Given the description of an element on the screen output the (x, y) to click on. 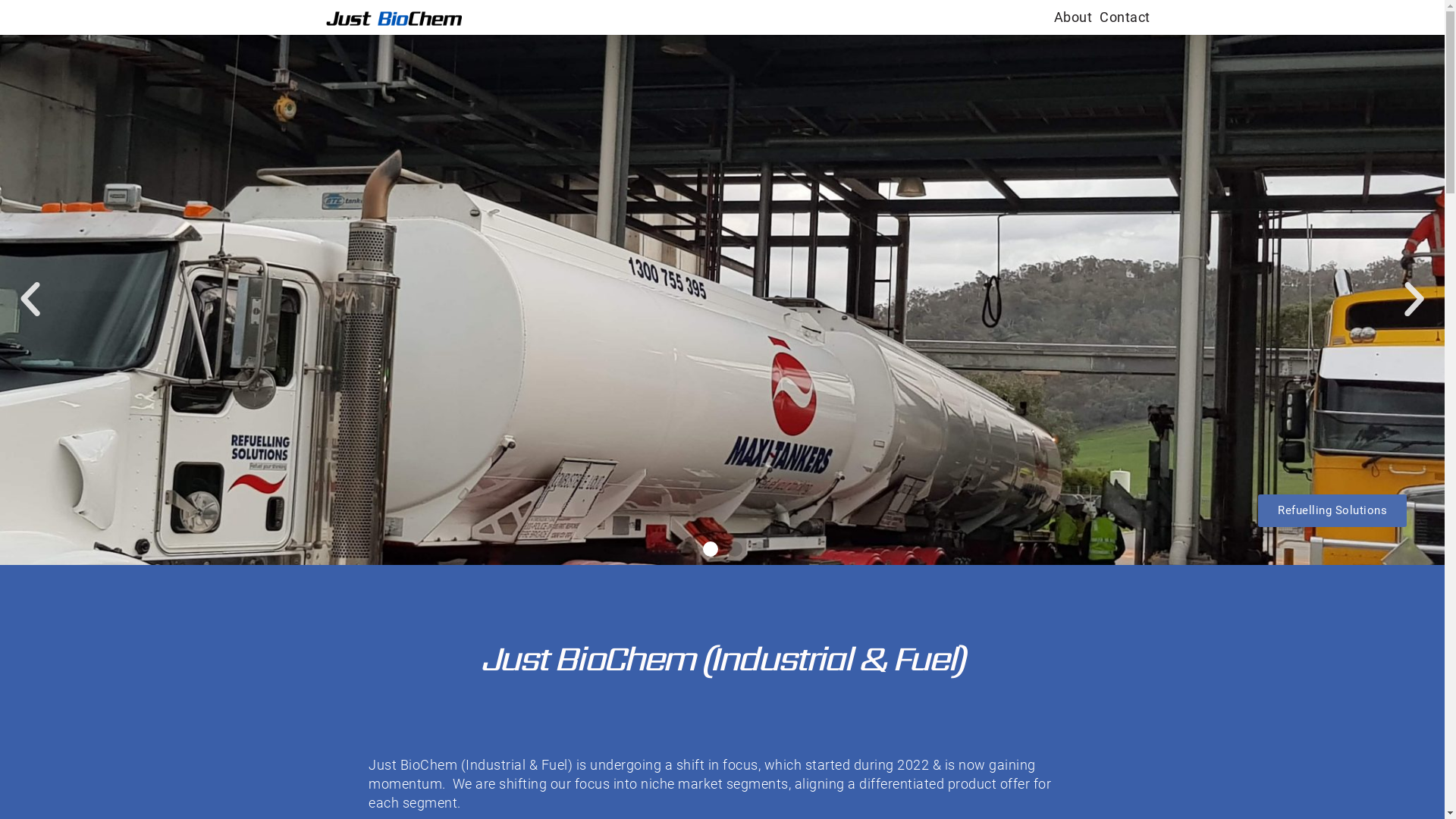
About Element type: text (1073, 17)
Contact Element type: text (1124, 17)
Refuelling Solutions Element type: text (1332, 510)
